Given the description of an element on the screen output the (x, y) to click on. 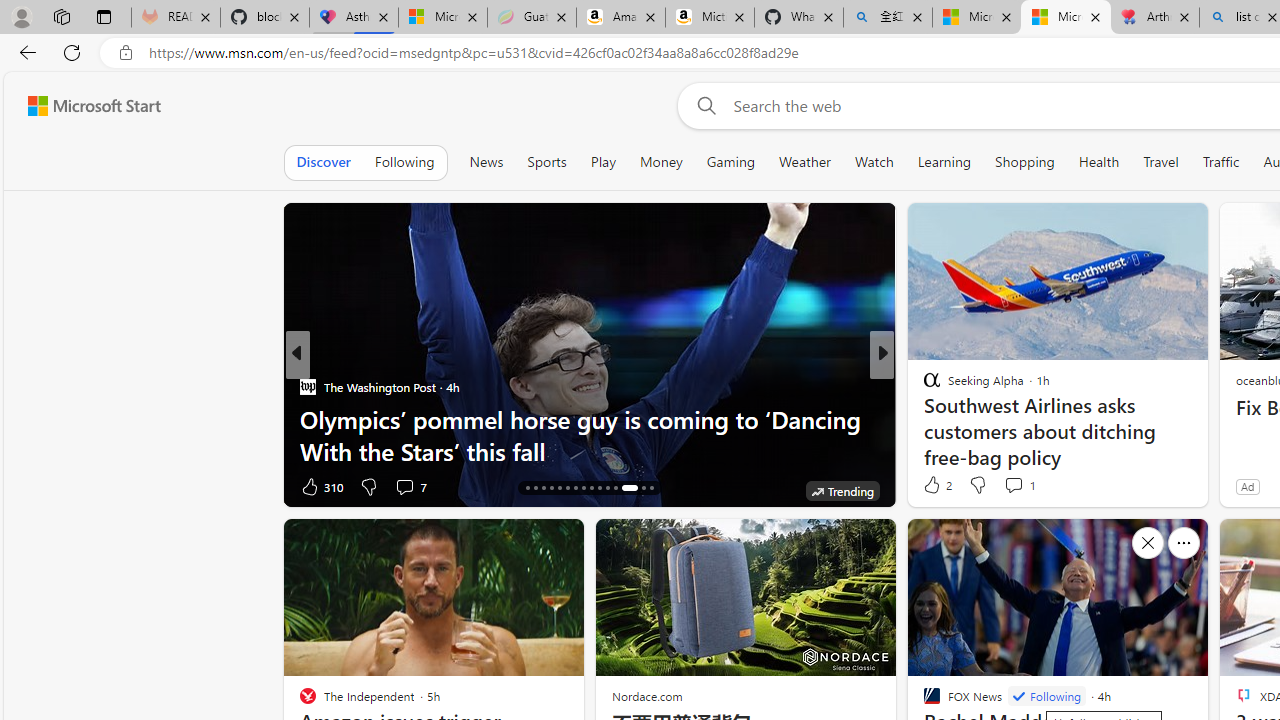
Gaming (730, 161)
Ad Choice (264, 486)
16 Like (317, 486)
View comments 20 Comment (1019, 485)
Shopping (1025, 162)
119 Like (936, 486)
Sports (546, 162)
Skip to content (86, 105)
AutomationID: tab-20 (559, 487)
